Given the description of an element on the screen output the (x, y) to click on. 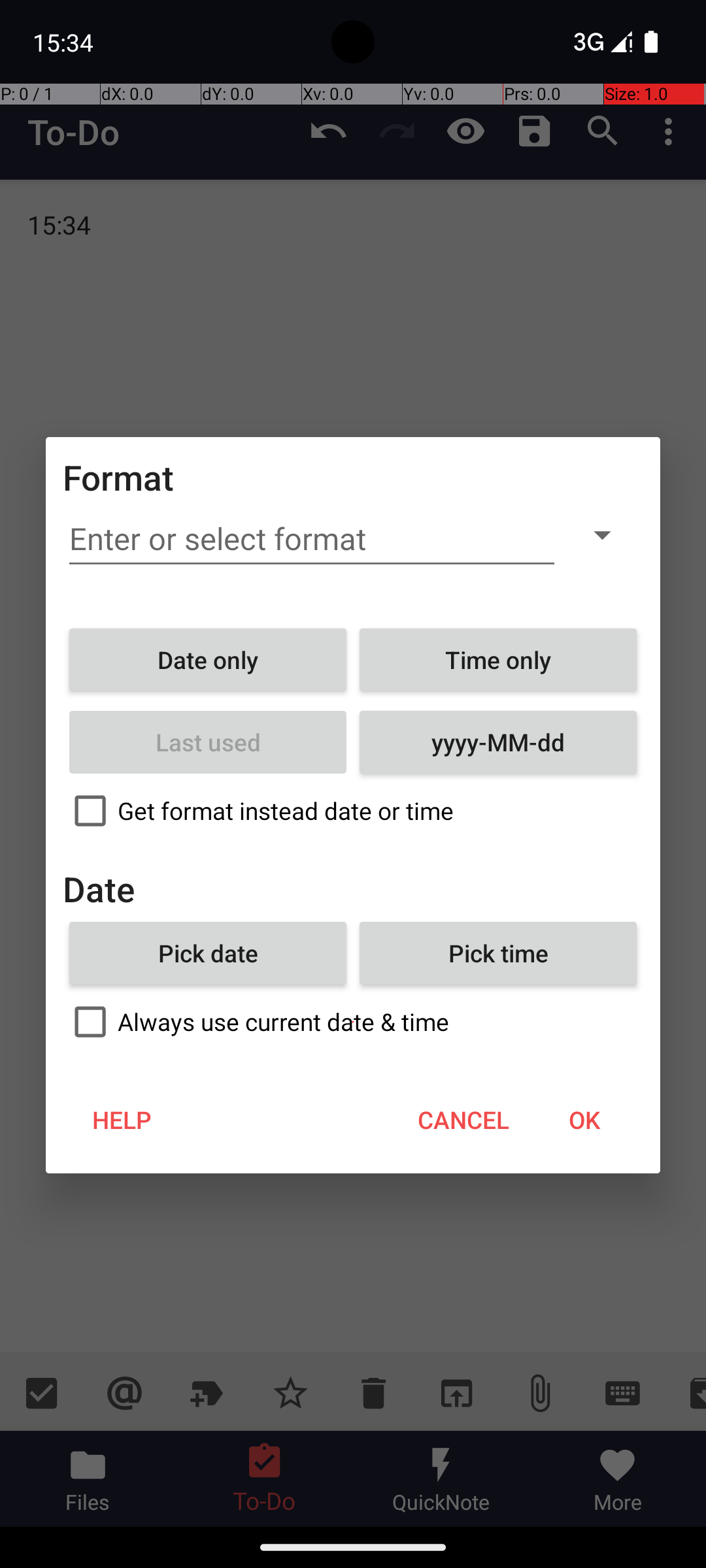
Enter or select format Element type: android.widget.EditText (311, 538)
Date only Element type: android.widget.Button (207, 659)
Time only Element type: android.widget.Button (498, 659)
Last used Element type: android.widget.Button (207, 742)
Get format instead date or time Element type: android.widget.CheckBox (352, 810)
Pick date Element type: android.widget.Button (207, 953)
Always use current date & time Element type: android.widget.CheckBox (352, 1021)
HELP Element type: android.widget.Button (121, 1119)
